Given the description of an element on the screen output the (x, y) to click on. 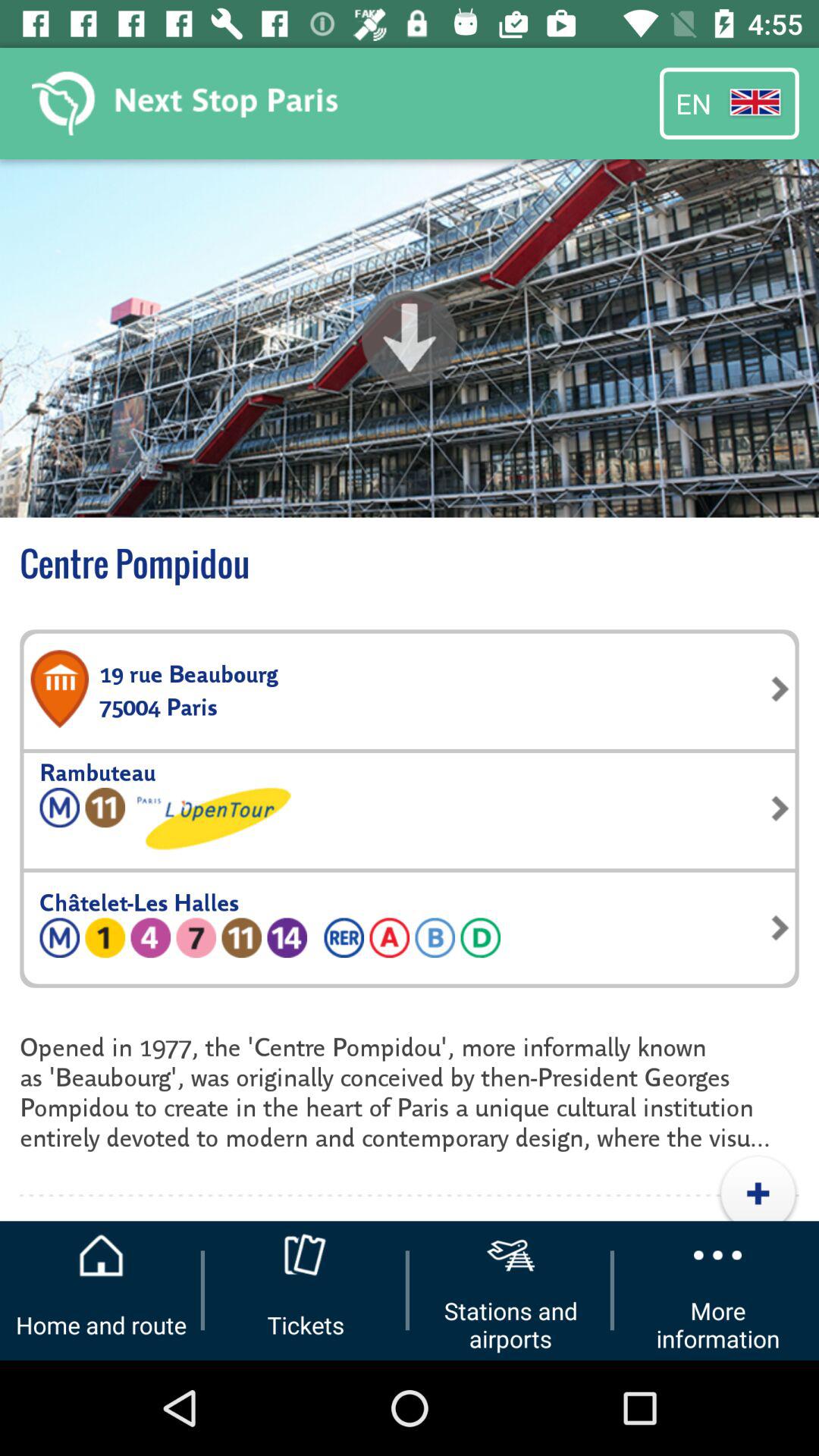
tap the opened in 1977 icon (409, 1090)
